Given the description of an element on the screen output the (x, y) to click on. 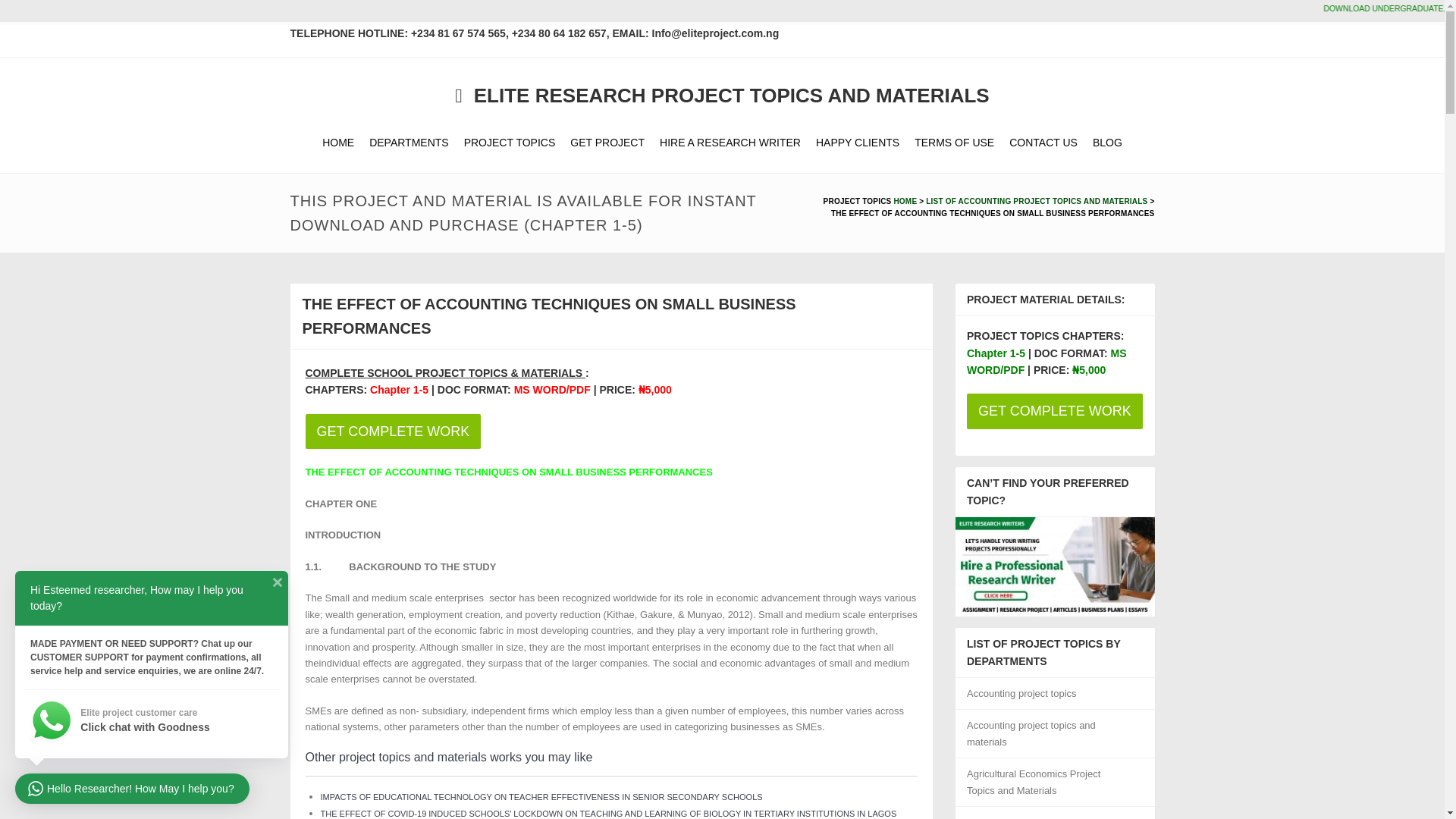
ELITE RESEARCH PROJECT TOPICS AND MATERIALS (721, 96)
GET COMPLETE WORK (610, 431)
PROJECT TOPICS (510, 142)
GET COMPLETE WORK (392, 431)
TERMS OF USE (954, 142)
HOME (905, 201)
HIRE A RESEARCH WRITER (730, 142)
BLOG (1106, 142)
LIST OF ACCOUNTING PROJECT TOPICS AND MATERIALS (1036, 201)
GET PROJECT (607, 142)
DEPARTMENTS (409, 142)
HOME (337, 142)
CONTACT US (1042, 142)
